Given the description of an element on the screen output the (x, y) to click on. 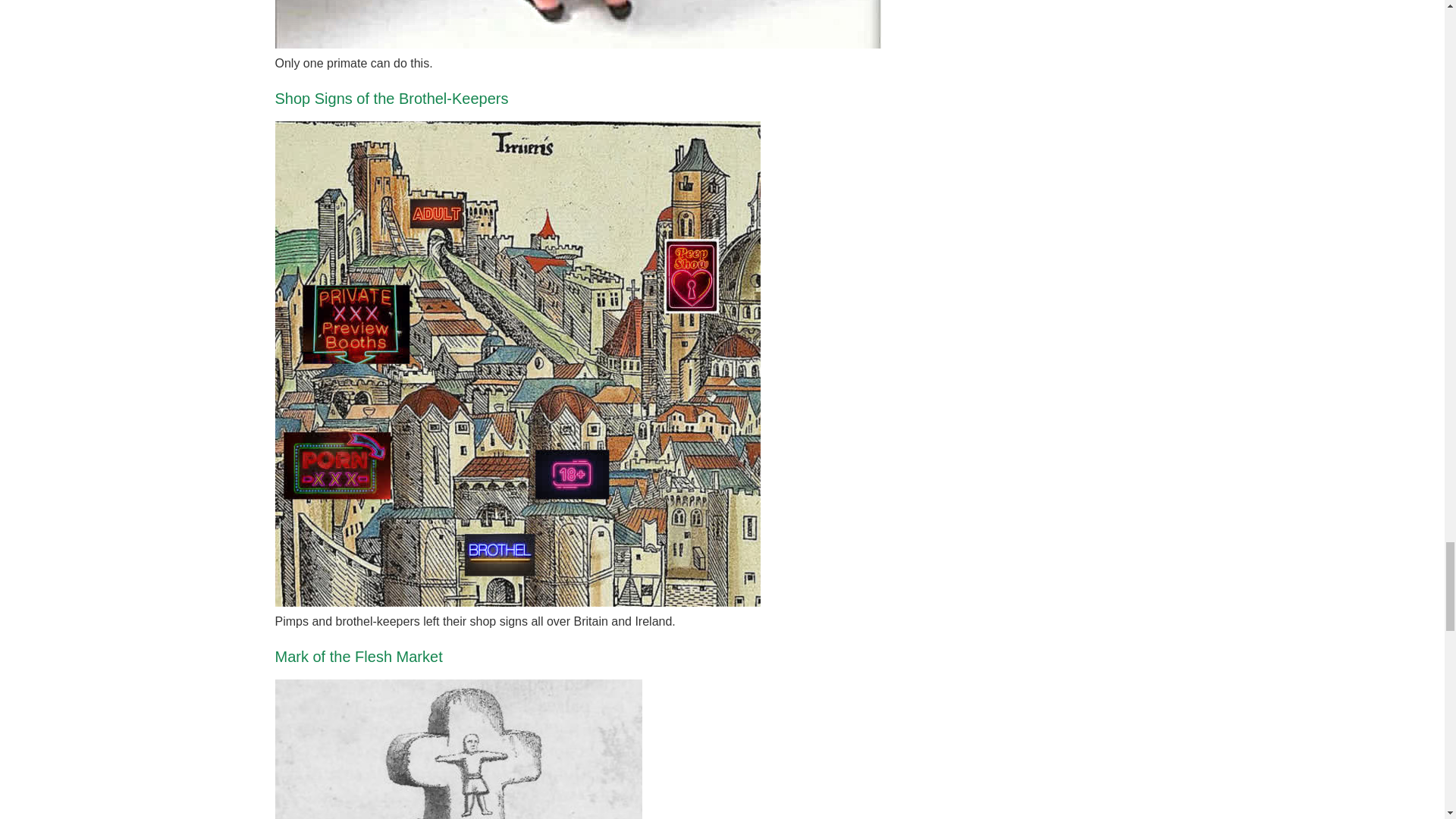
Shop Signs of the Brothel-Keepers (391, 98)
Mark of the Flesh Market (358, 656)
